Given the description of an element on the screen output the (x, y) to click on. 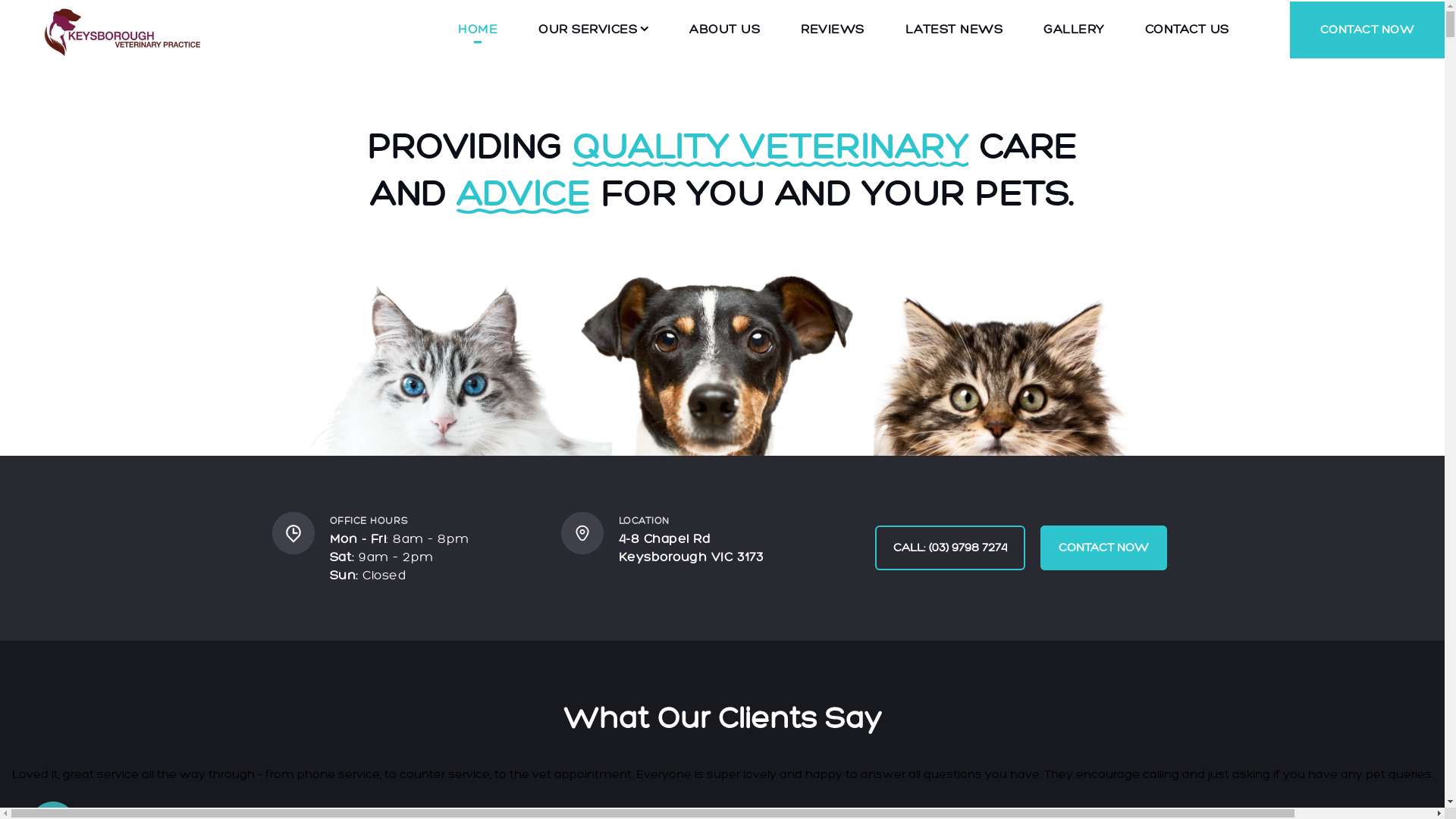
CONTACT NOW Element type: text (1366, 29)
GALLERY Element type: text (1073, 29)
CALL: (03) 9798 7274 Element type: text (950, 547)
ABOUT US Element type: text (724, 29)
CONTACT NOW Element type: text (1103, 547)
OUR SERVICES Element type: text (587, 29)
HOME Element type: text (477, 29)
CONTACT US Element type: text (1187, 29)
LATEST NEWS Element type: text (954, 29)
REVIEWS Element type: text (832, 29)
